Given the description of an element on the screen output the (x, y) to click on. 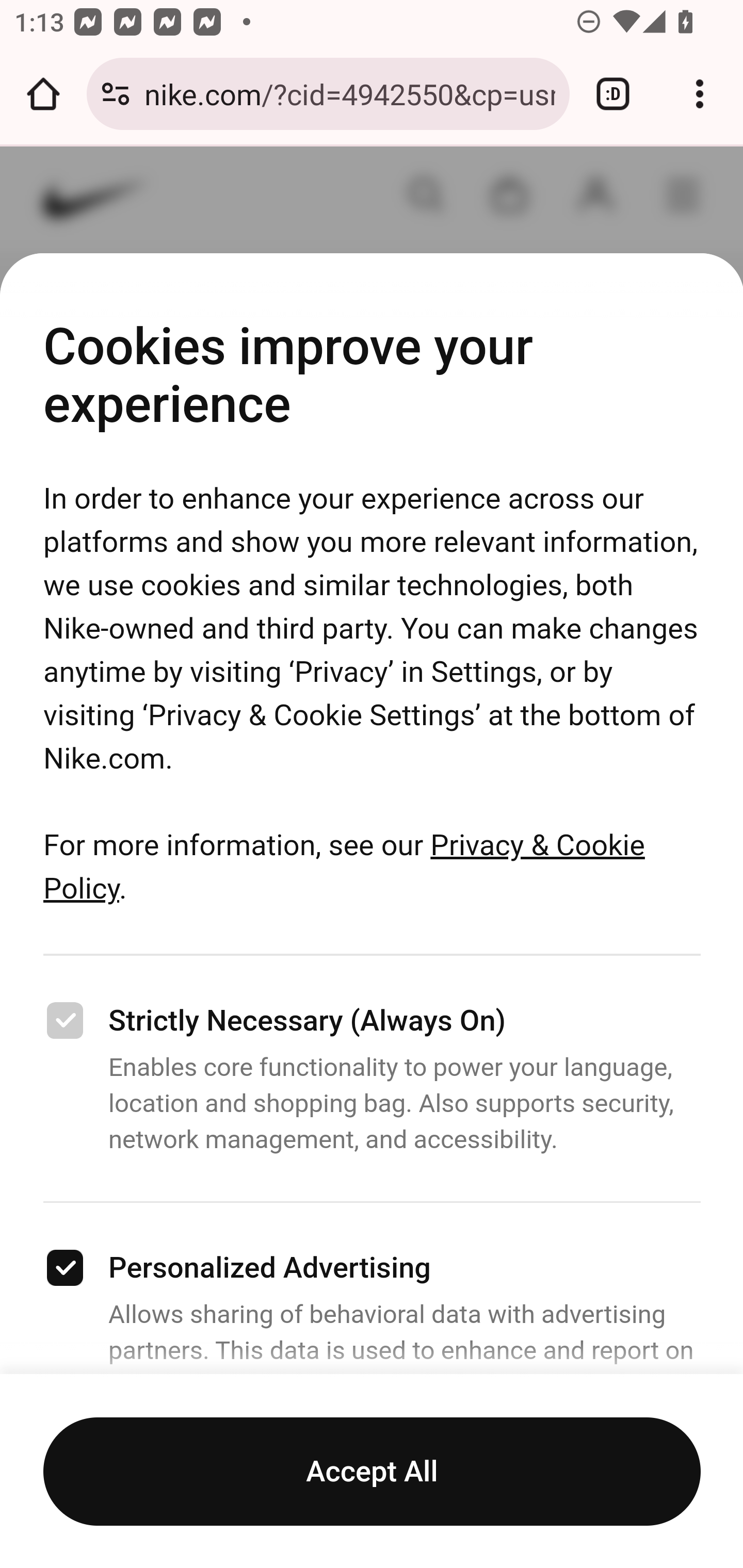
Open the home page (43, 93)
Connection is secure (115, 93)
Switch or close tabs (612, 93)
Customize and control Google Chrome (699, 93)
Nike Women's Week The Celebration Is On (372, 962)
